Given the description of an element on the screen output the (x, y) to click on. 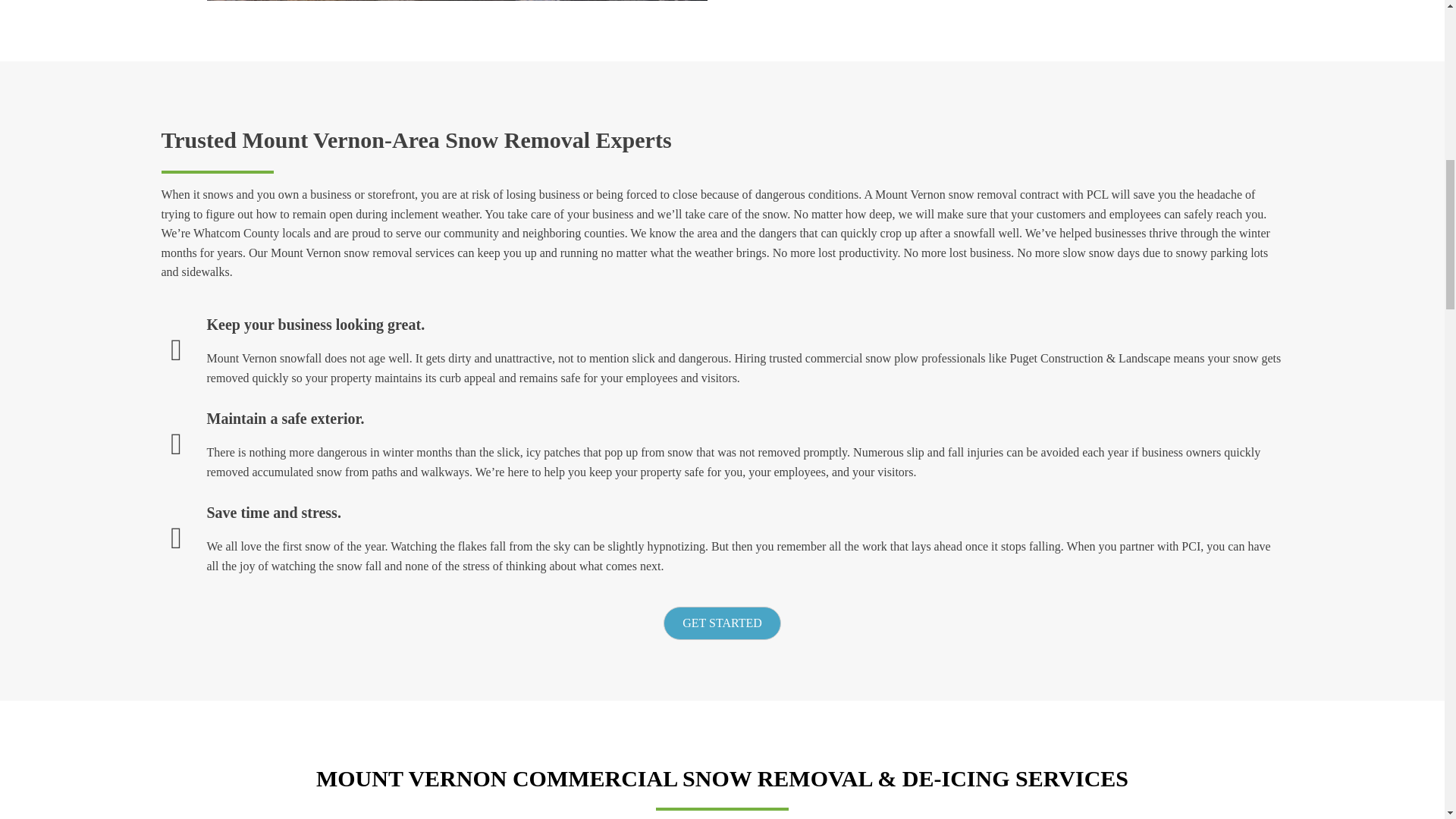
GET STARTED (721, 622)
